Given the description of an element on the screen output the (x, y) to click on. 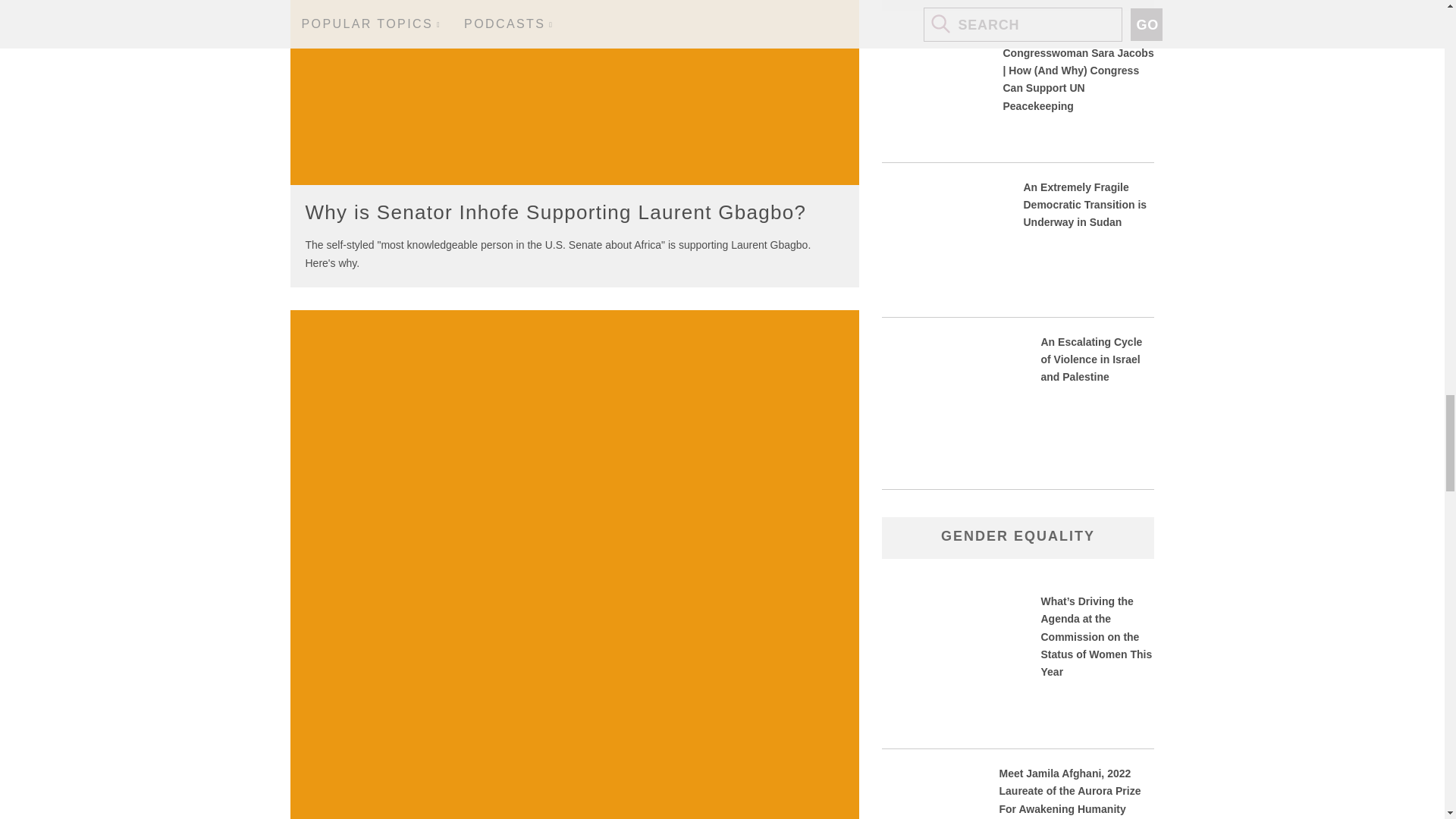
Why is Senator Inhofe Supporting Laurent Gbagbo? (555, 211)
